Given the description of an element on the screen output the (x, y) to click on. 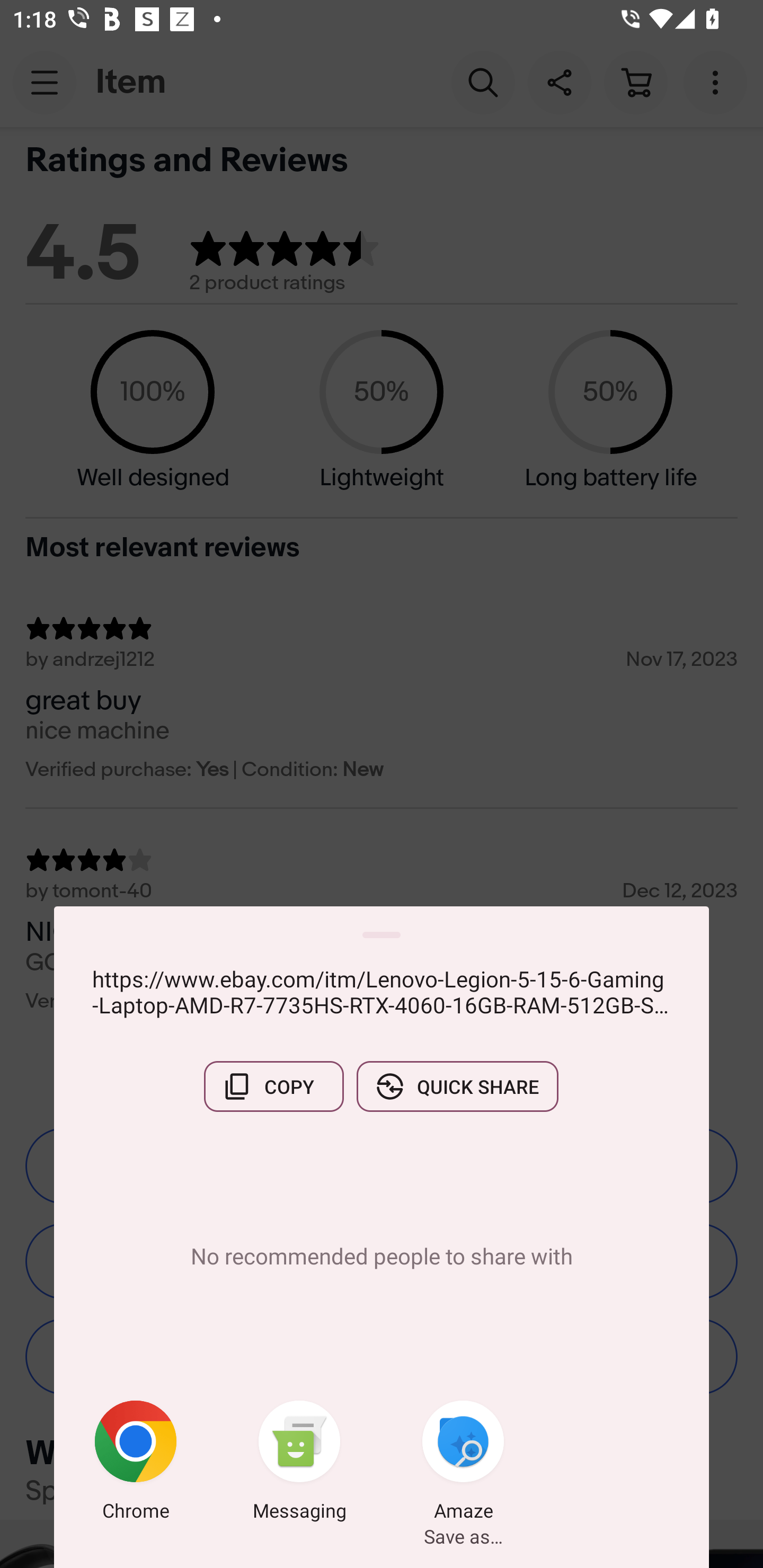
COPY (273, 1086)
QUICK SHARE (457, 1086)
Chrome (135, 1463)
Messaging (299, 1463)
Amaze Save as… (463, 1463)
